Given the description of an element on the screen output the (x, y) to click on. 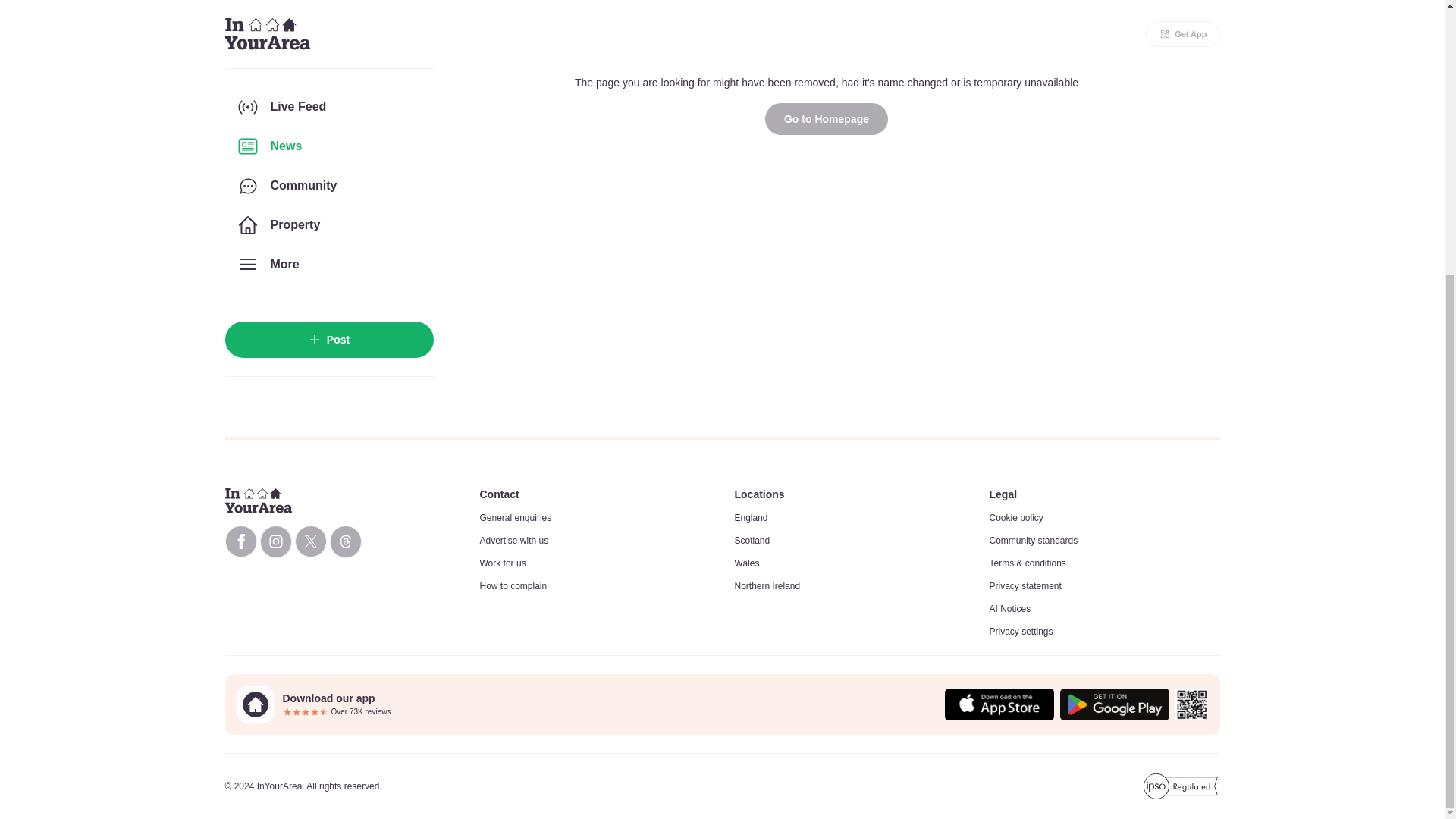
InYourArea Instagram (275, 541)
InYourArea Threads (345, 541)
Go to Homepage (826, 119)
InYourArea X (310, 541)
InYourArea Facebook (240, 541)
